Given the description of an element on the screen output the (x, y) to click on. 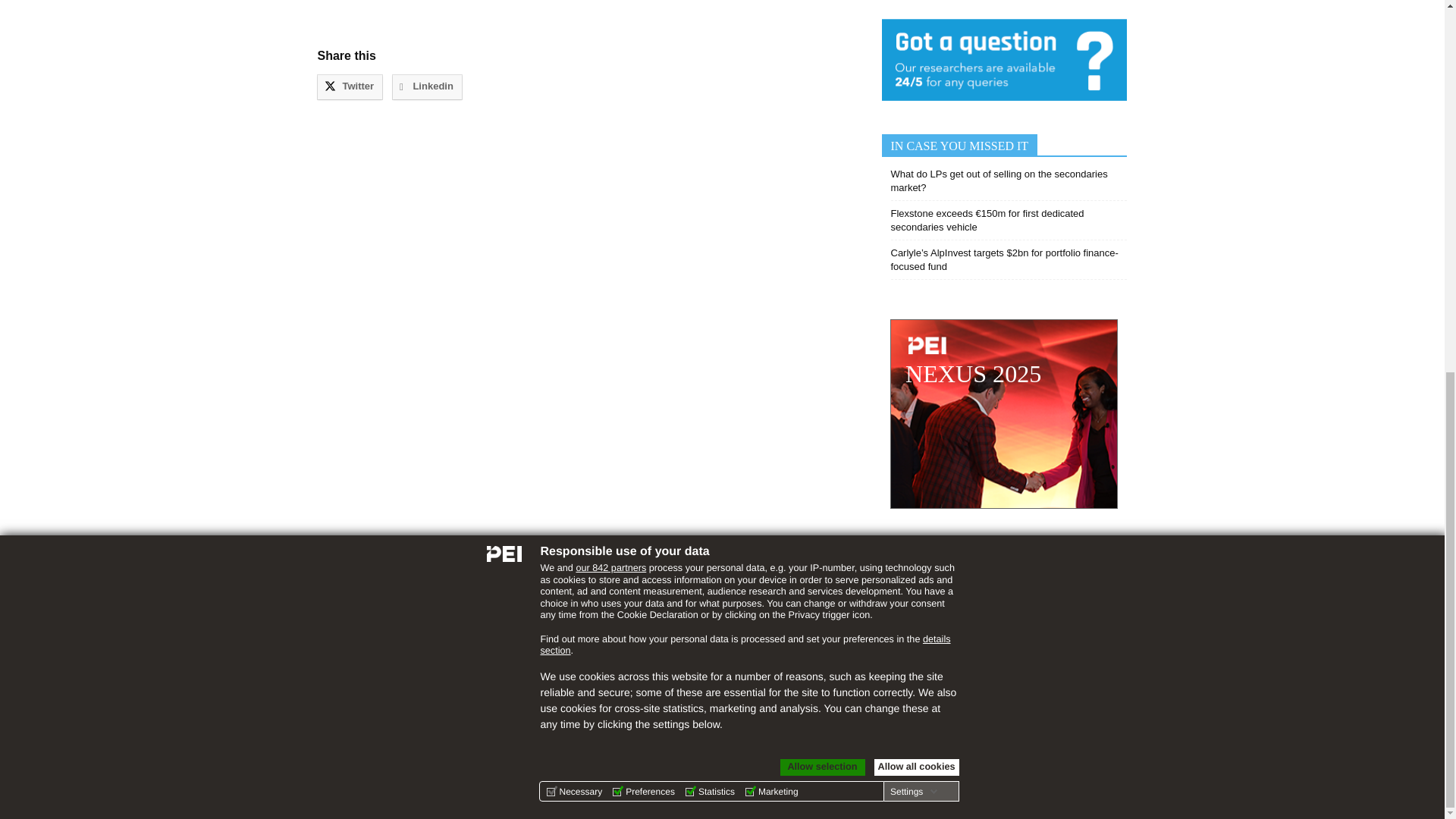
Settings (913, 111)
Allow all cookies (915, 87)
Allow selection (821, 87)
